Given the description of an element on the screen output the (x, y) to click on. 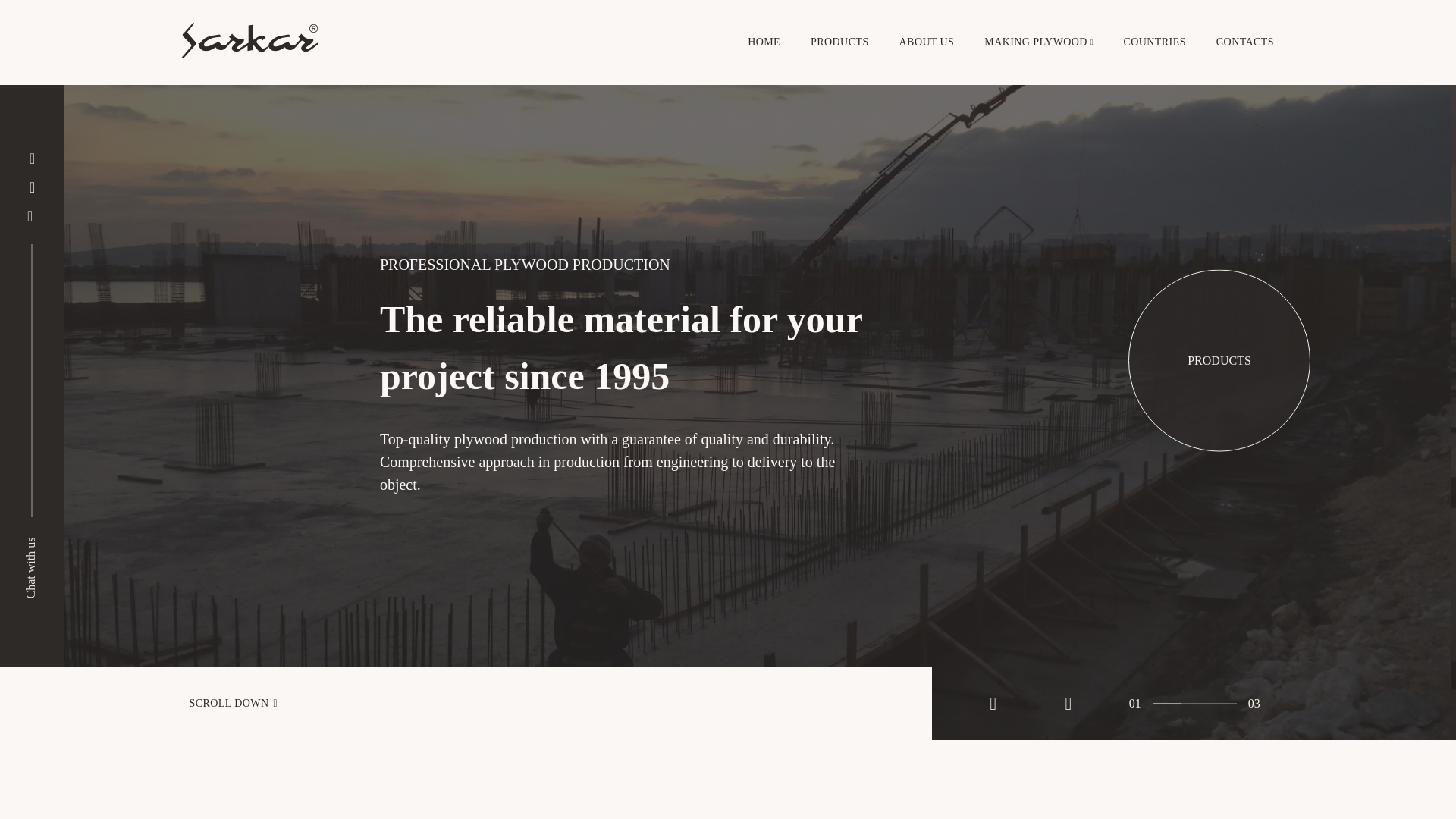
CONTACTS (1244, 41)
HOME (764, 41)
MAKING PLYWOOD (1035, 41)
ABOUT US (927, 41)
PRODUCTS (1219, 361)
COUNTRIES (1155, 41)
SCROLL DOWN (465, 703)
PRODUCTS (839, 41)
